Given the description of an element on the screen output the (x, y) to click on. 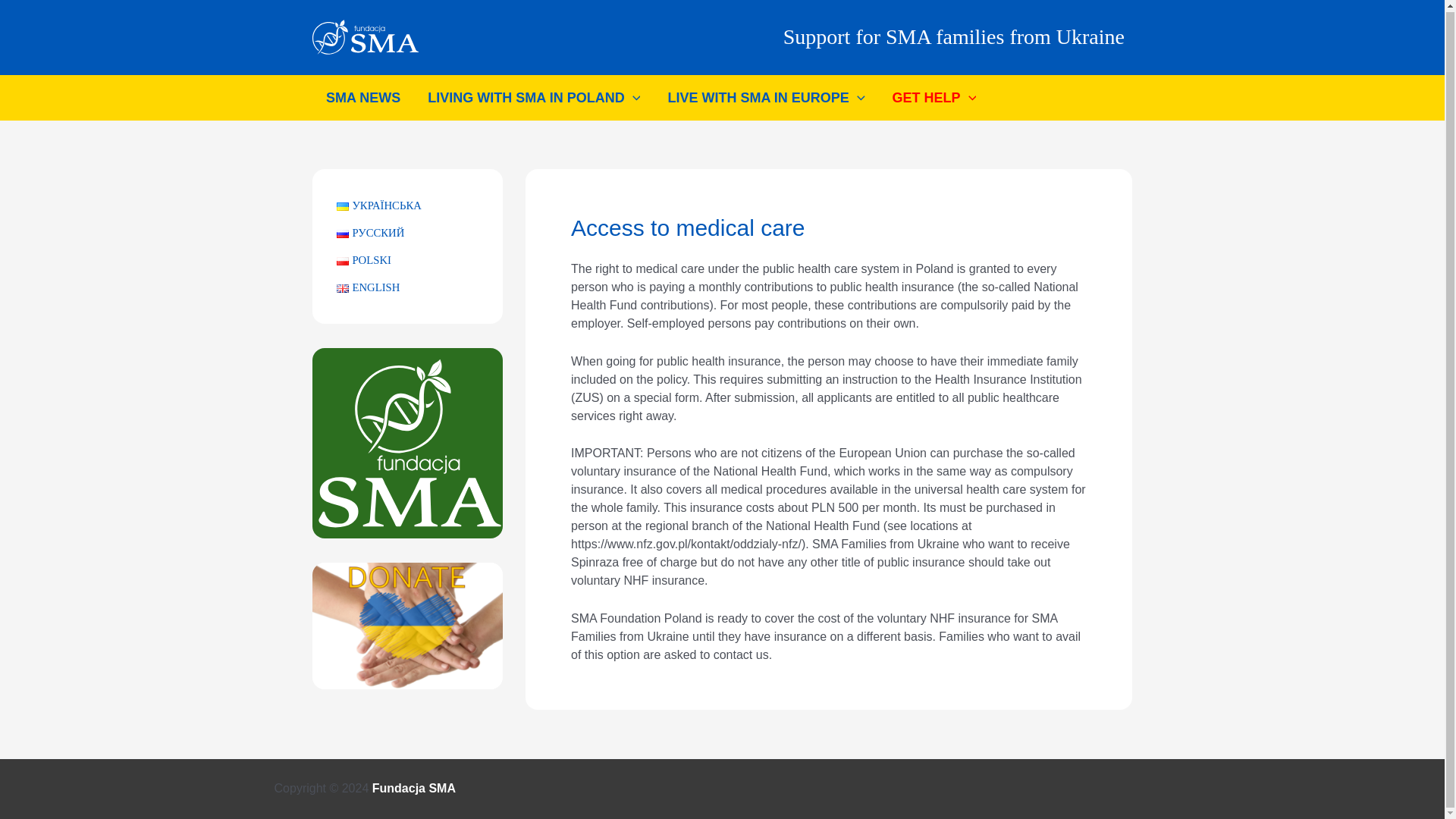
ENGLISH (367, 287)
SMA NEWS (363, 97)
LIVE WITH SMA IN EUROPE (765, 97)
LIVING WITH SMA IN POLAND (533, 97)
GET HELP (934, 97)
POLSKI (363, 259)
